Given the description of an element on the screen output the (x, y) to click on. 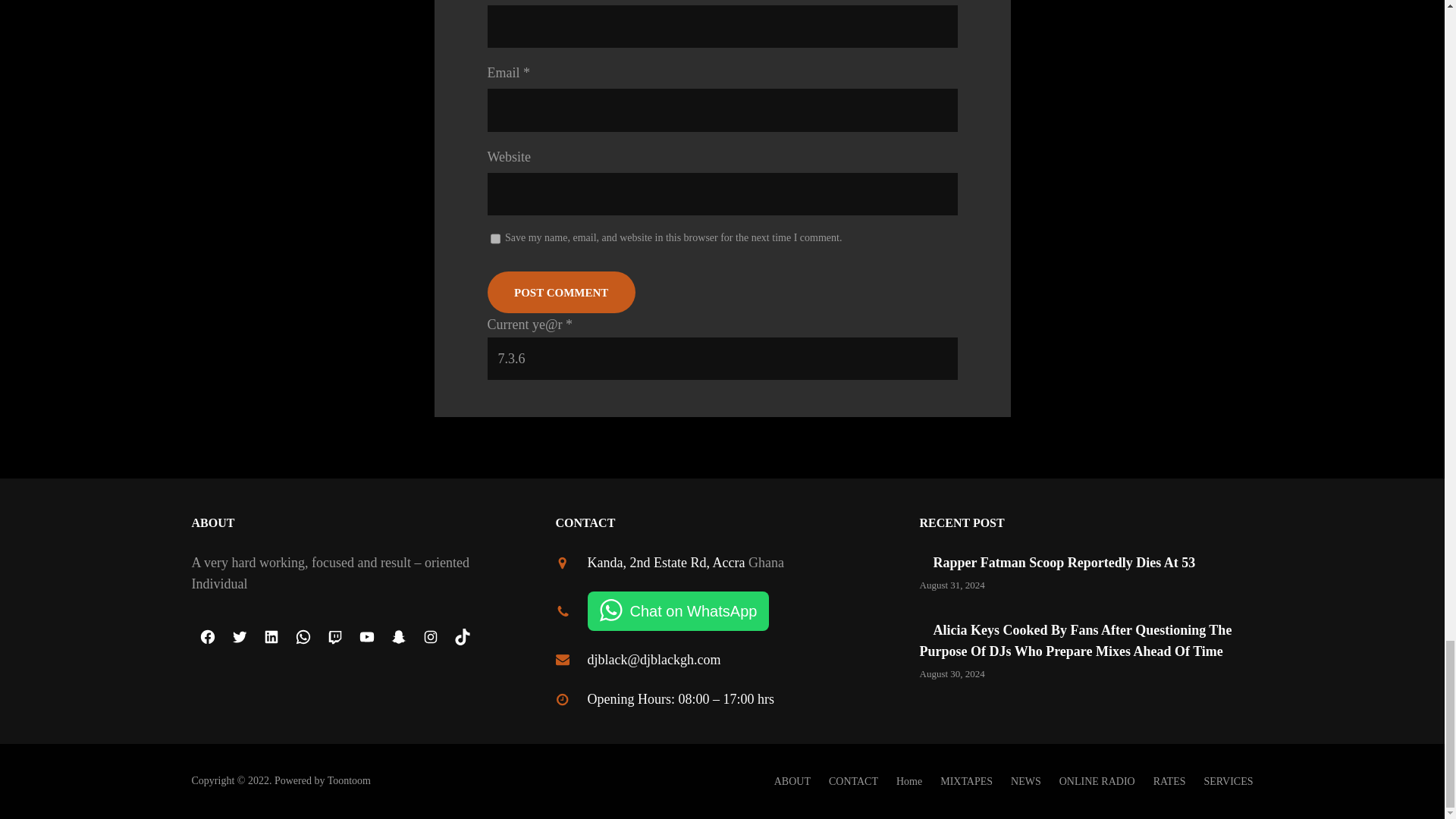
Kanda, 2nd Estate Rd, Accra (665, 562)
Chat on WhatsApp (677, 610)
Instagram (429, 636)
WhatsApp (302, 636)
LinkedIn (270, 636)
YouTube (365, 636)
Twitter (238, 636)
TikTok (461, 636)
Twitch (334, 636)
Facebook (206, 636)
